Given the description of an element on the screen output the (x, y) to click on. 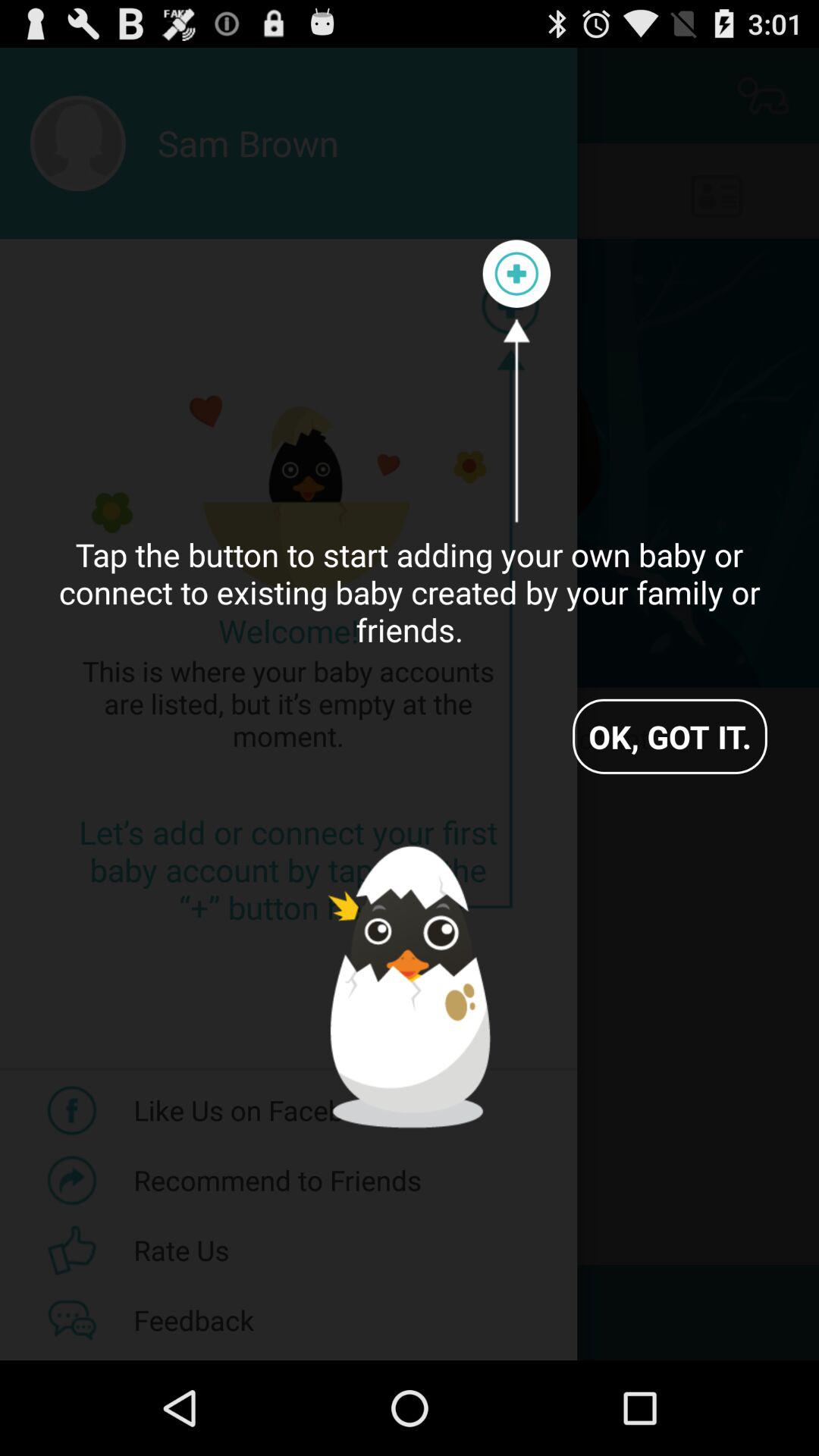
botton to start addining your own baby or connect to existen baby (516, 273)
